Given the description of an element on the screen output the (x, y) to click on. 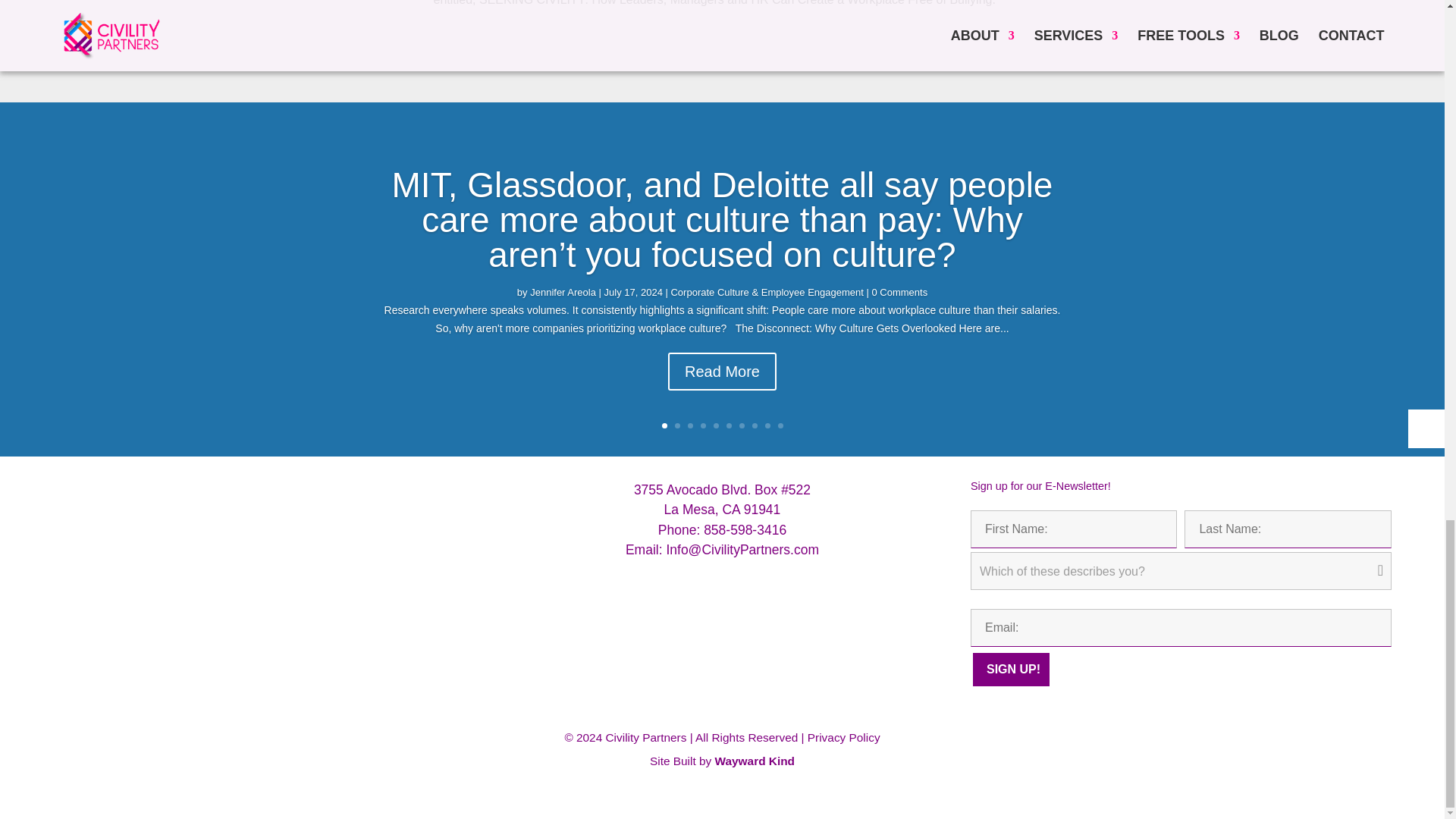
Sign Up! (1011, 669)
